Given the description of an element on the screen output the (x, y) to click on. 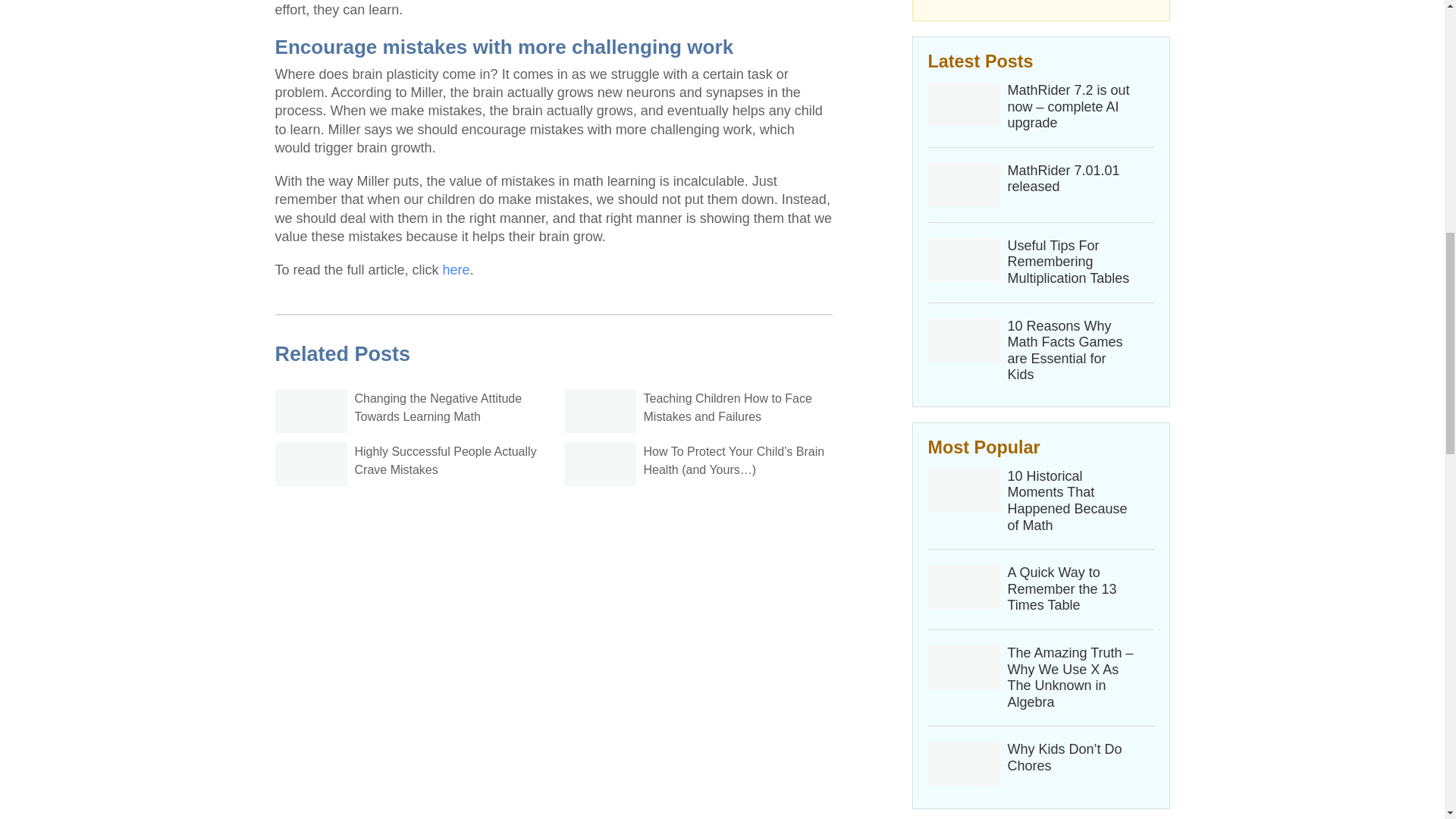
10 Reasons Why Math Facts Games are Essential for Kids (1071, 351)
Click here for more details (1041, 6)
here (456, 269)
Highly Successful People Actually Crave Mistakes (446, 460)
Changing the Negative Attitude Towards Learning Math (438, 407)
Teaching Children How to Face Mistakes and Failures (726, 407)
MathRider 7.01.01 released (1071, 178)
Useful Tips For Remembering Multiplication Tables (1071, 262)
